Given the description of an element on the screen output the (x, y) to click on. 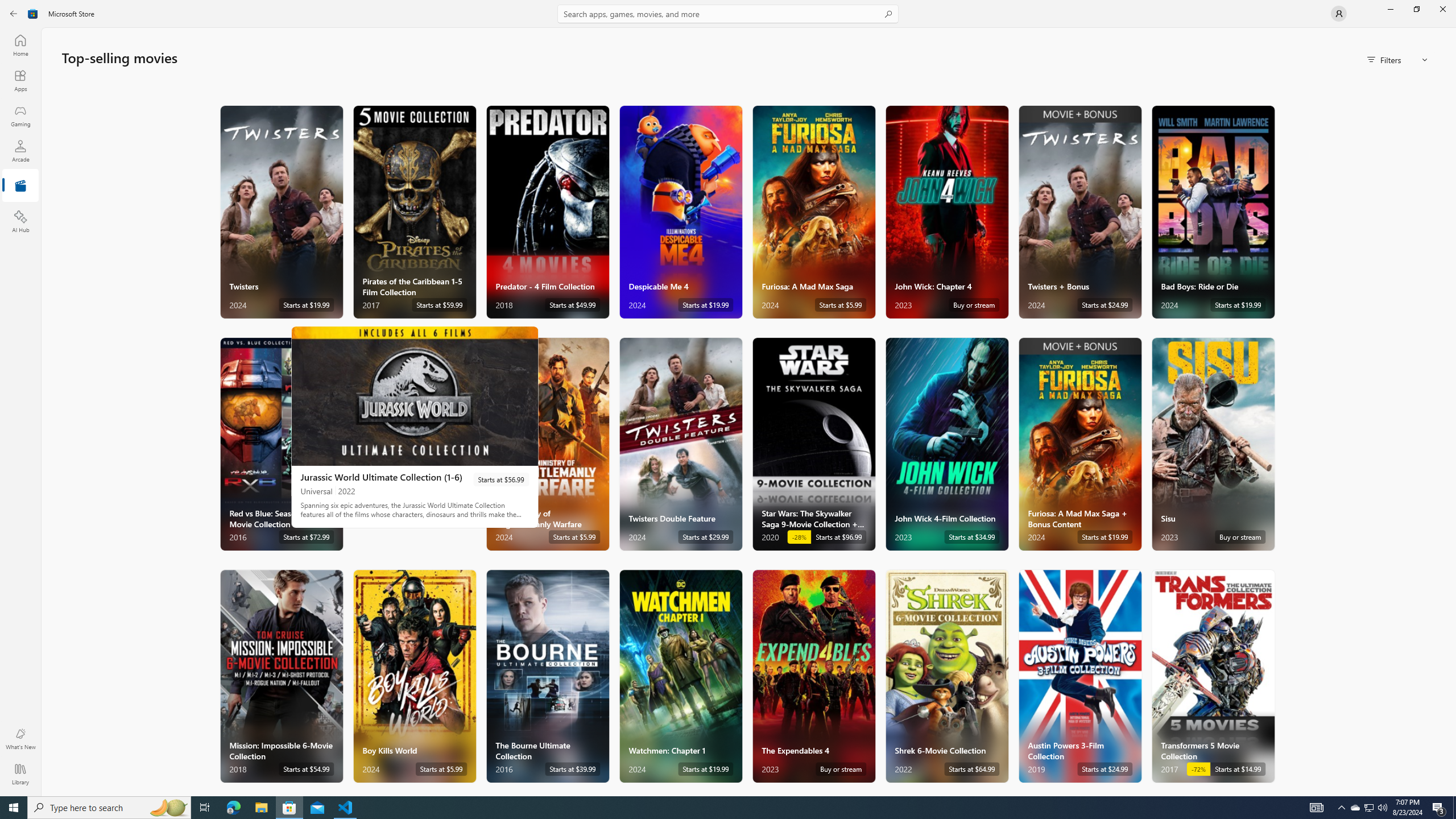
Filters (1397, 59)
Boy Kills World. Starts at $5.99   (414, 675)
Jurassic World Ultimate Collection (1-6). Starts at $56.99   (414, 426)
Screenshot 1 (414, 396)
AutomationID: NavigationControl (728, 398)
